Given the description of an element on the screen output the (x, y) to click on. 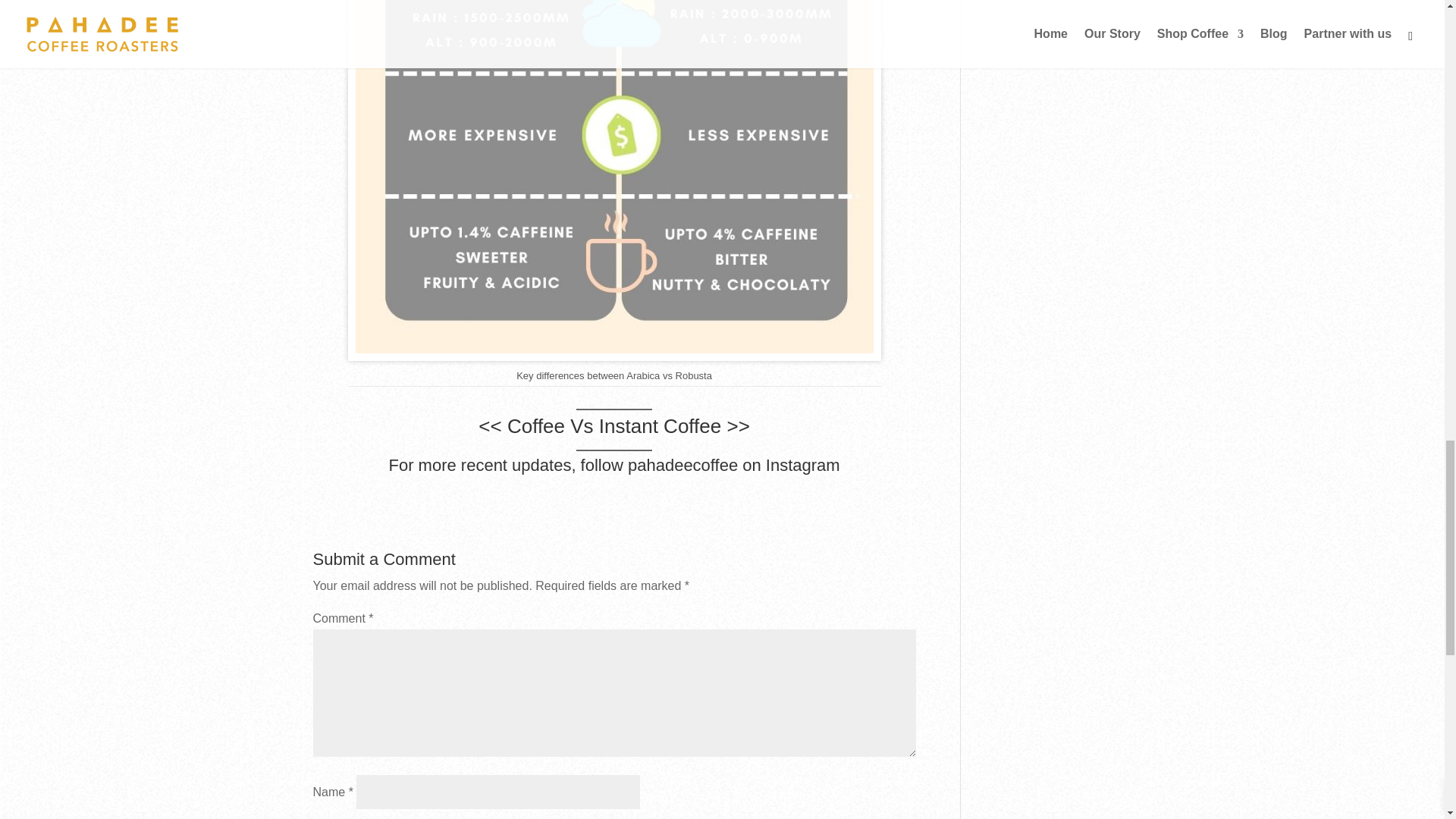
pahadeecoffee (682, 465)
Coffee Vs Instant Coffee (613, 425)
